Given the description of an element on the screen output the (x, y) to click on. 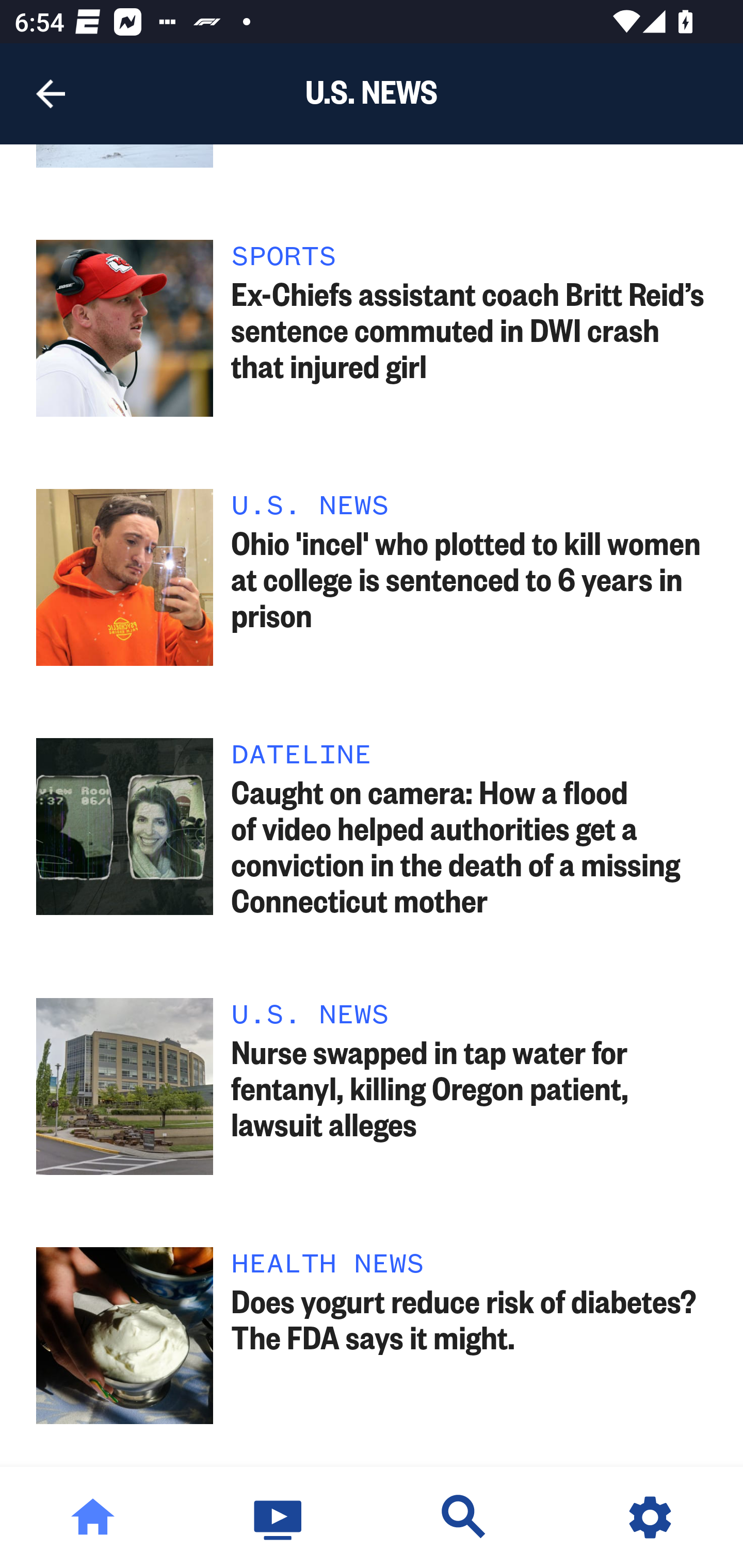
Navigate up (50, 93)
Watch (278, 1517)
Discover (464, 1517)
Settings (650, 1517)
